Given the description of an element on the screen output the (x, y) to click on. 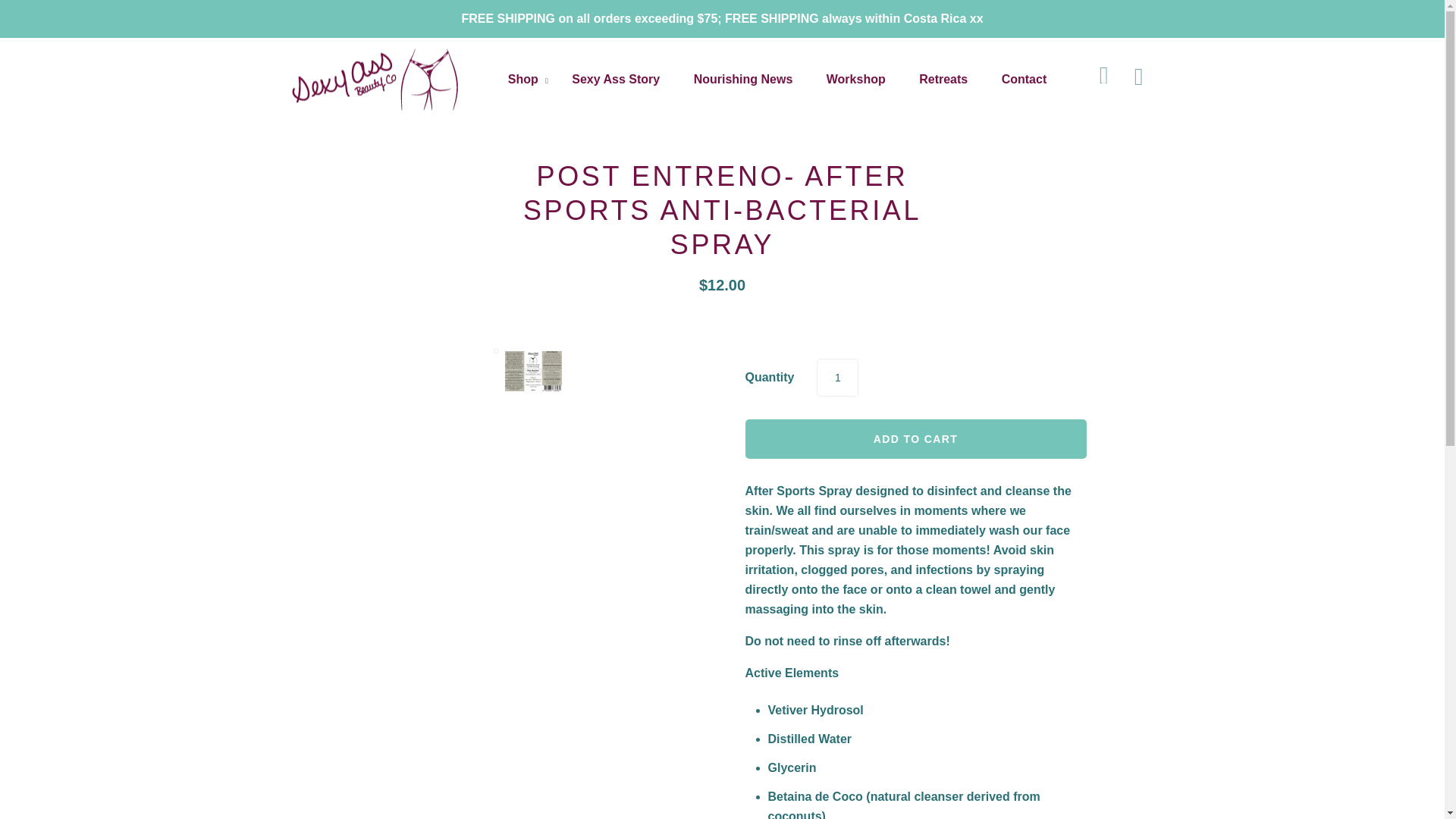
Retreats (943, 79)
Add to cart (915, 437)
1 (837, 376)
Shop (523, 79)
Contact (1024, 79)
Nourishing News (743, 79)
Workshop (855, 79)
Add to cart (915, 437)
Sexy Ass Story (615, 79)
